Given the description of an element on the screen output the (x, y) to click on. 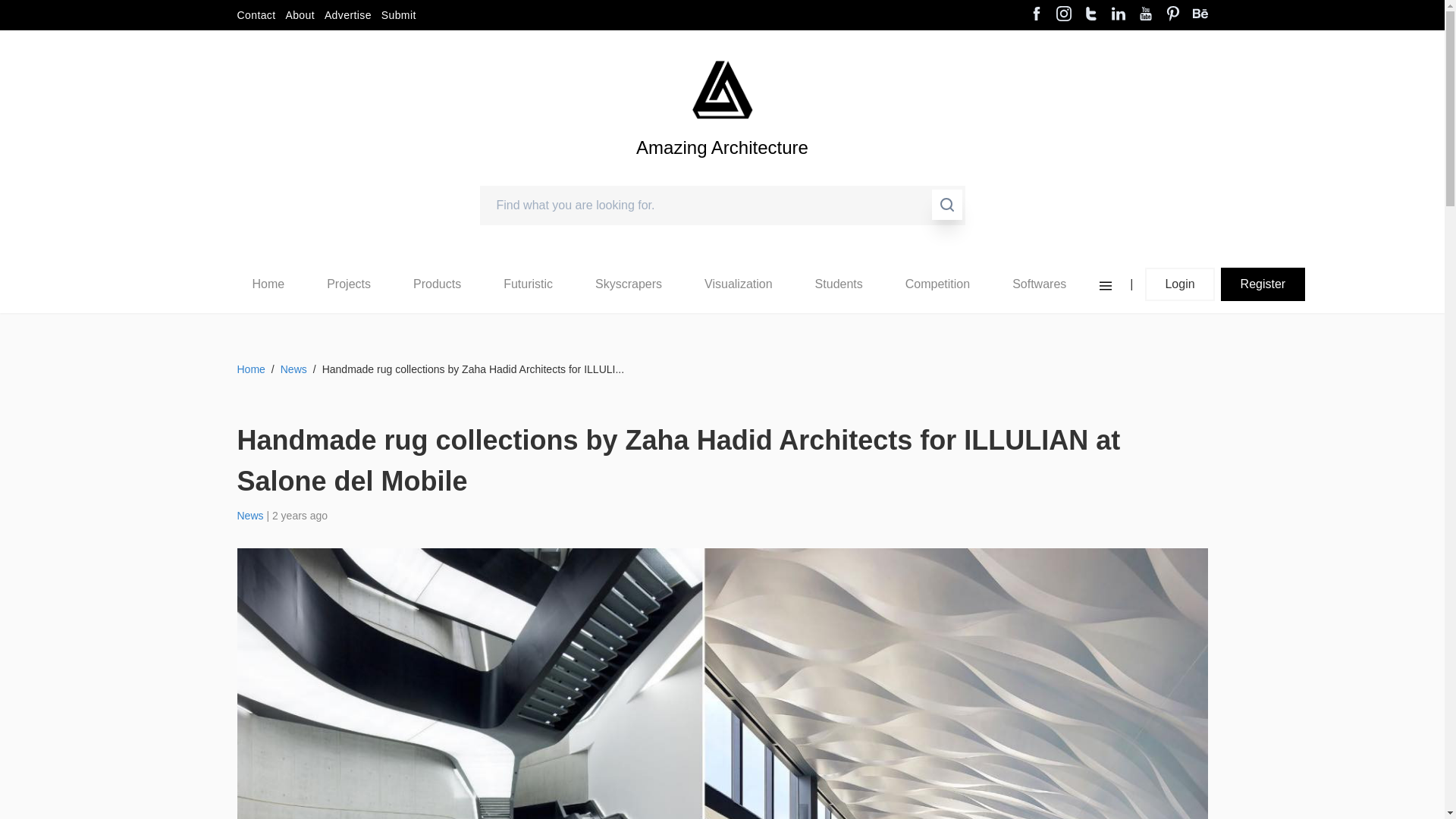
Advertisement page (347, 15)
Home (267, 284)
Contact us page (255, 15)
Projects (348, 284)
Skyscrapers (628, 283)
Submit page (398, 15)
Home (267, 283)
Submit (398, 15)
Amazing Architecture (721, 88)
Projects (348, 283)
